Given the description of an element on the screen output the (x, y) to click on. 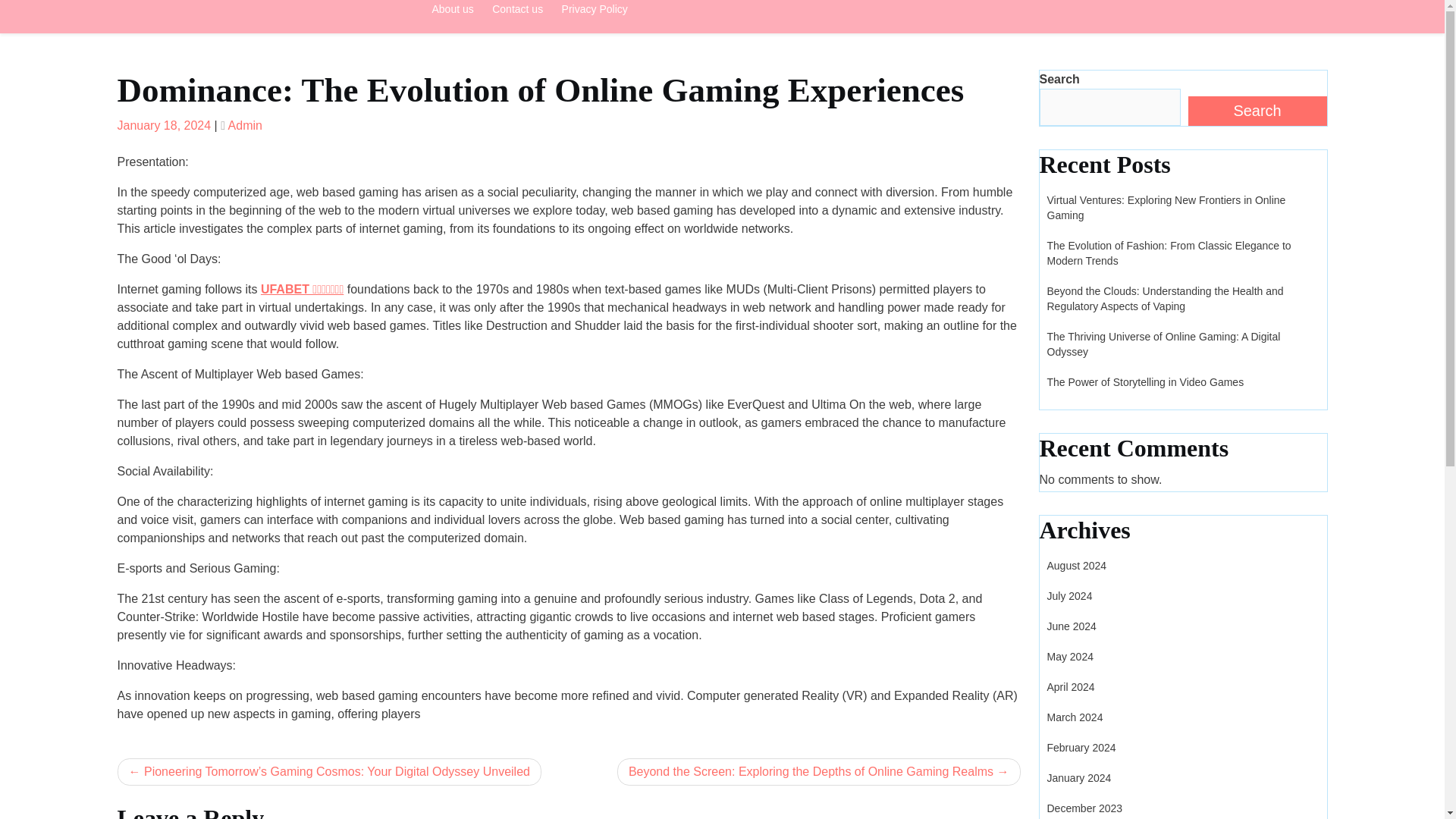
June 2024 (1071, 625)
February 2024 (1080, 747)
January 2024 (1078, 777)
July 2024 (1069, 595)
Contact us (517, 13)
August 2024 (1076, 565)
Search (1257, 111)
